Given the description of an element on the screen output the (x, y) to click on. 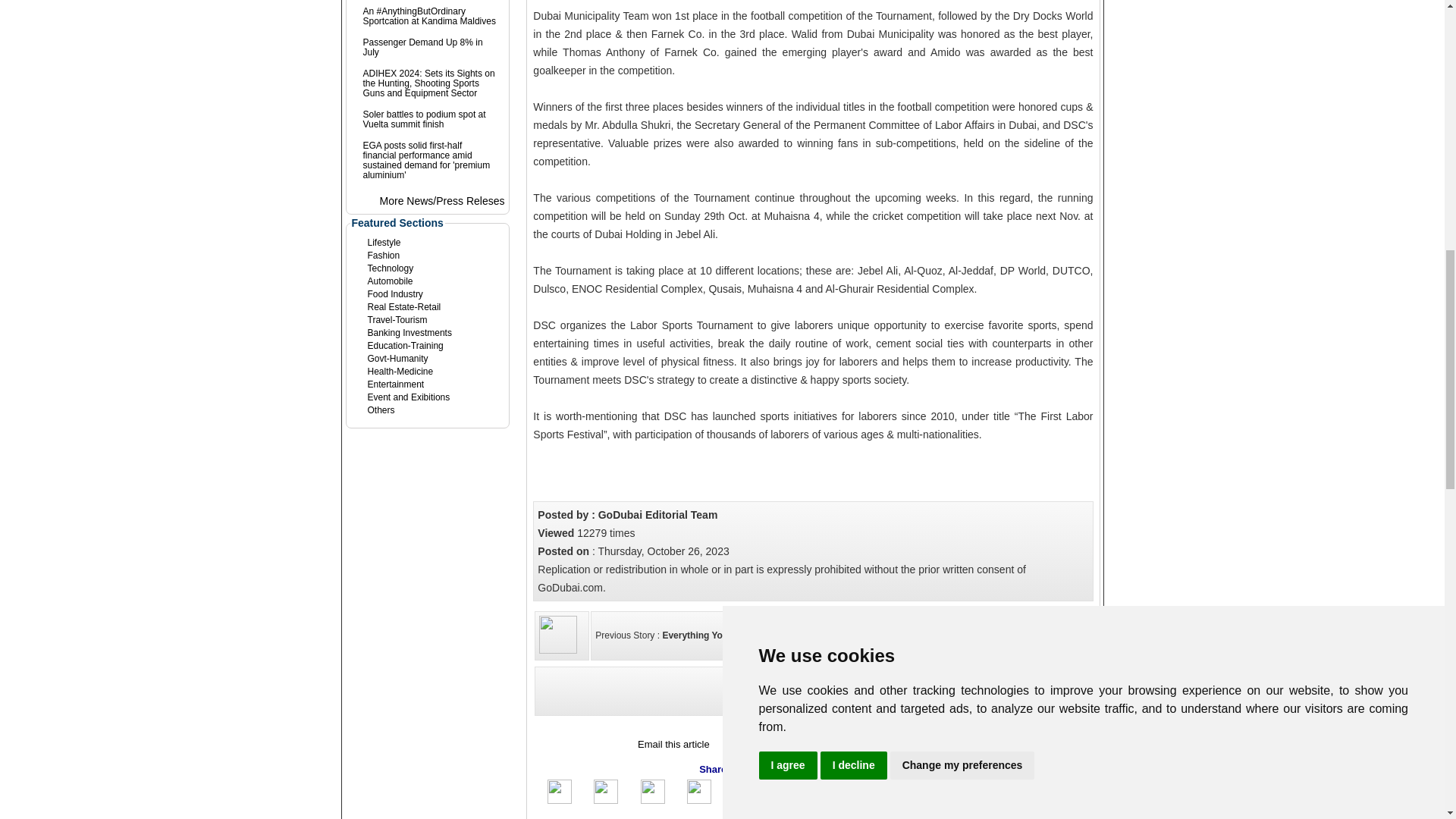
Stumbleupon (745, 800)
Digg (790, 800)
Folkd (972, 800)
Facebook (559, 800)
Twitter (605, 800)
Linkedin (652, 800)
Reddit (927, 800)
Delicious (1020, 800)
MySpace (699, 800)
NewsVine (859, 791)
